Given the description of an element on the screen output the (x, y) to click on. 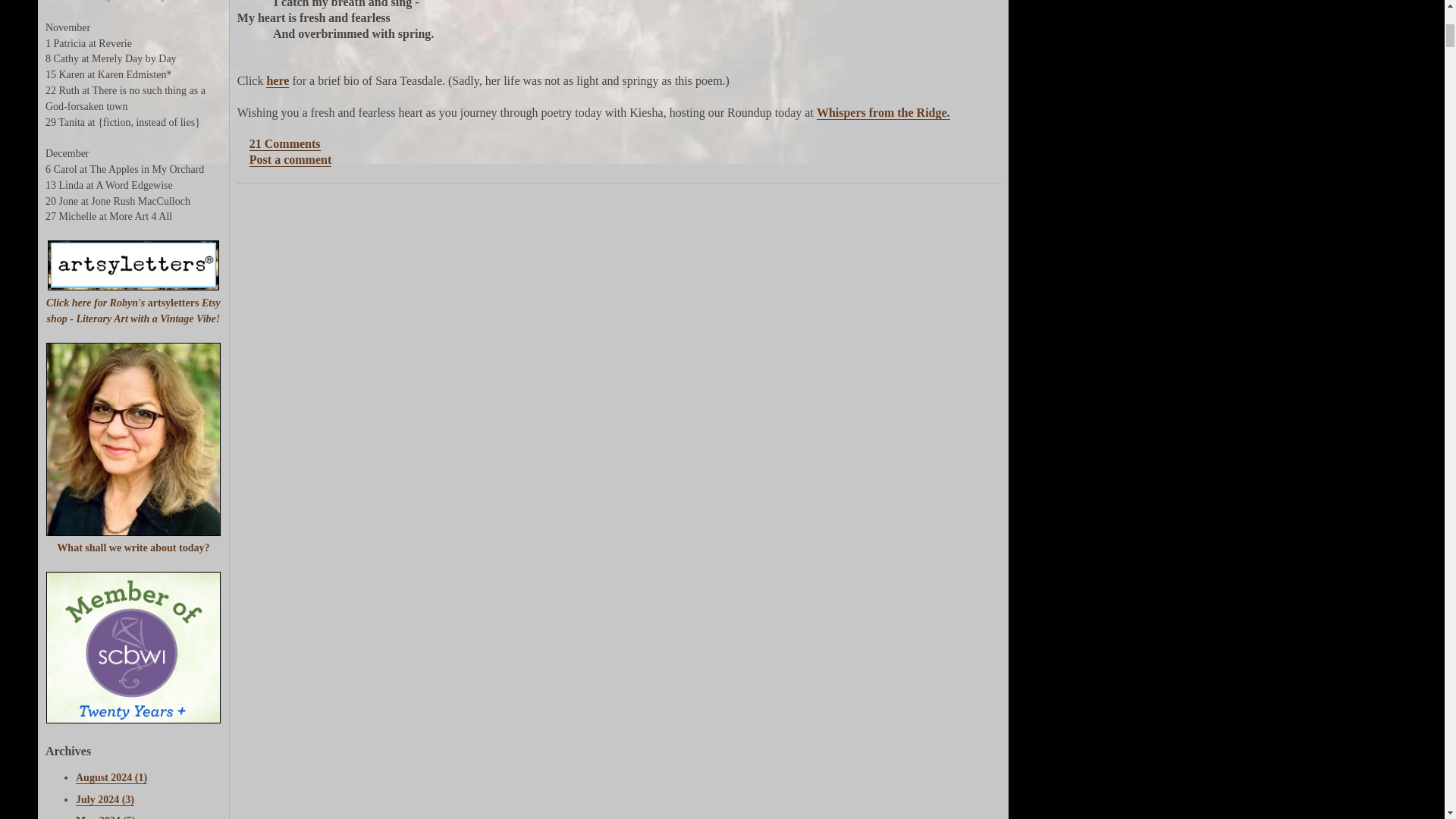
What shall we write about today? (132, 547)
